Given the description of an element on the screen output the (x, y) to click on. 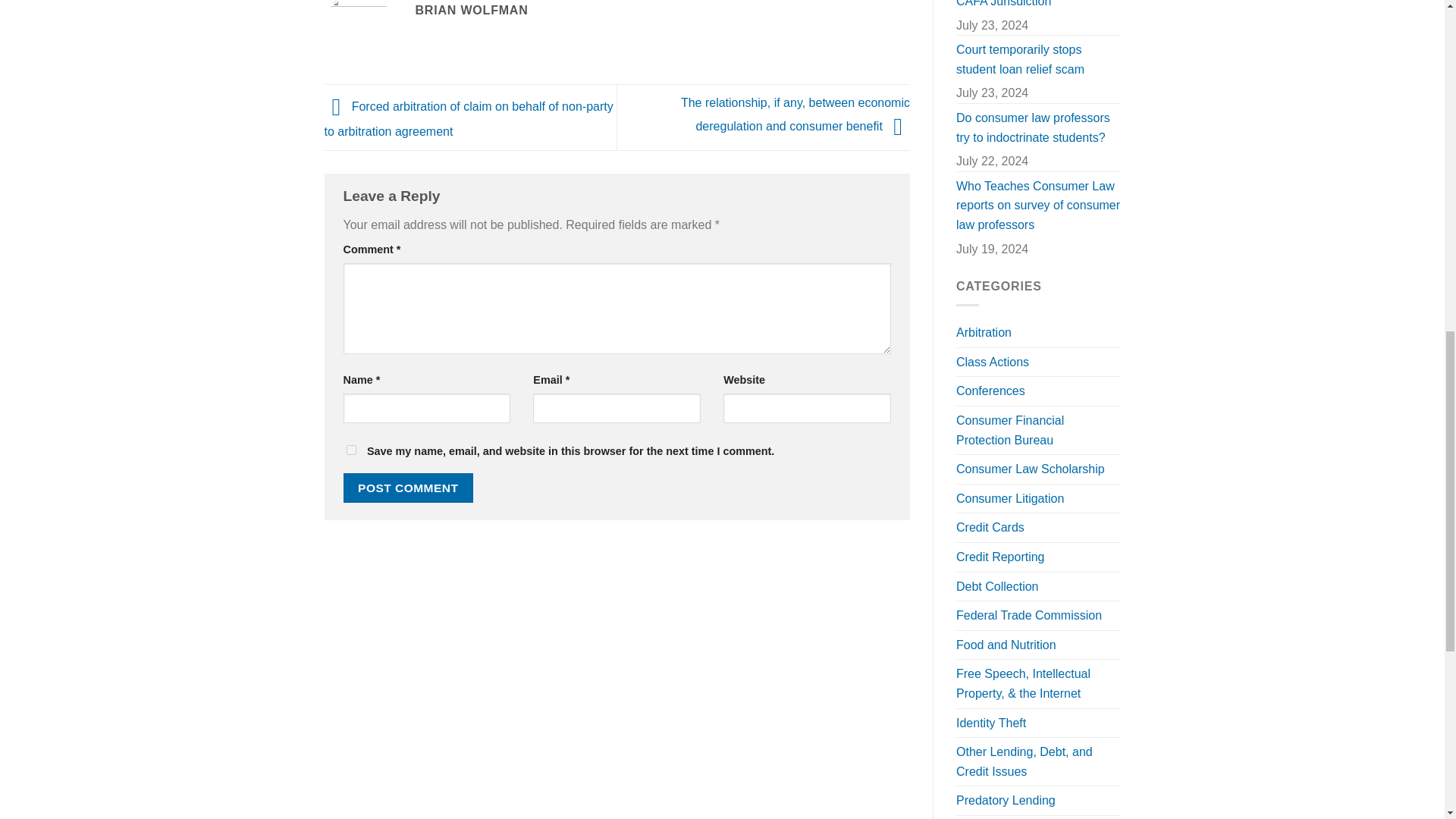
Post Comment (407, 487)
yes (350, 450)
Post Comment (407, 487)
